Given the description of an element on the screen output the (x, y) to click on. 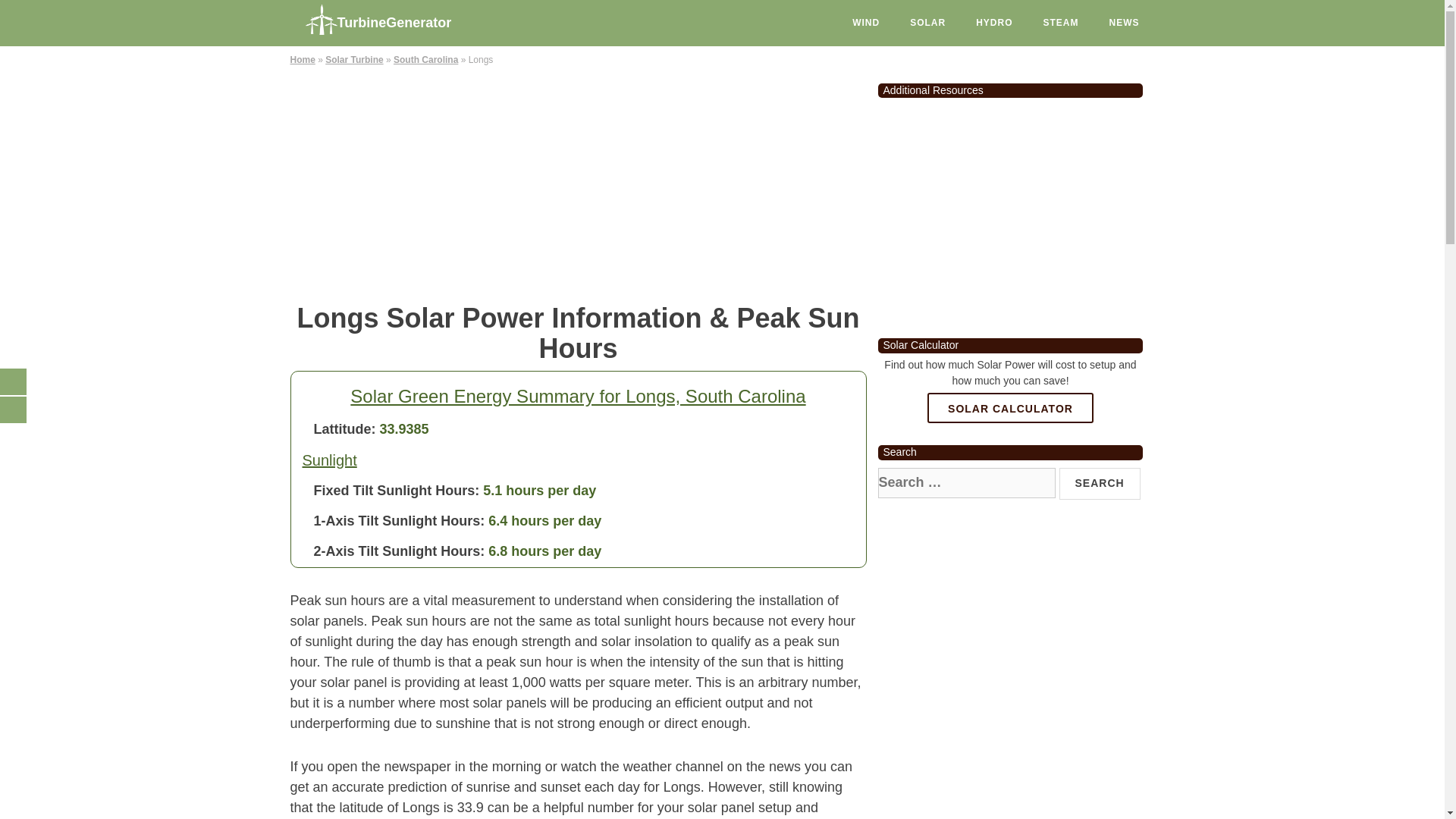
South Carolina (425, 59)
STEAM (1060, 22)
TurbineGenerator (402, 18)
Advertisement (1009, 211)
SOLAR (927, 22)
Home (301, 59)
NEWS (1123, 22)
Advertisement (577, 182)
Search (1099, 483)
HYDRO (993, 22)
